Given the description of an element on the screen output the (x, y) to click on. 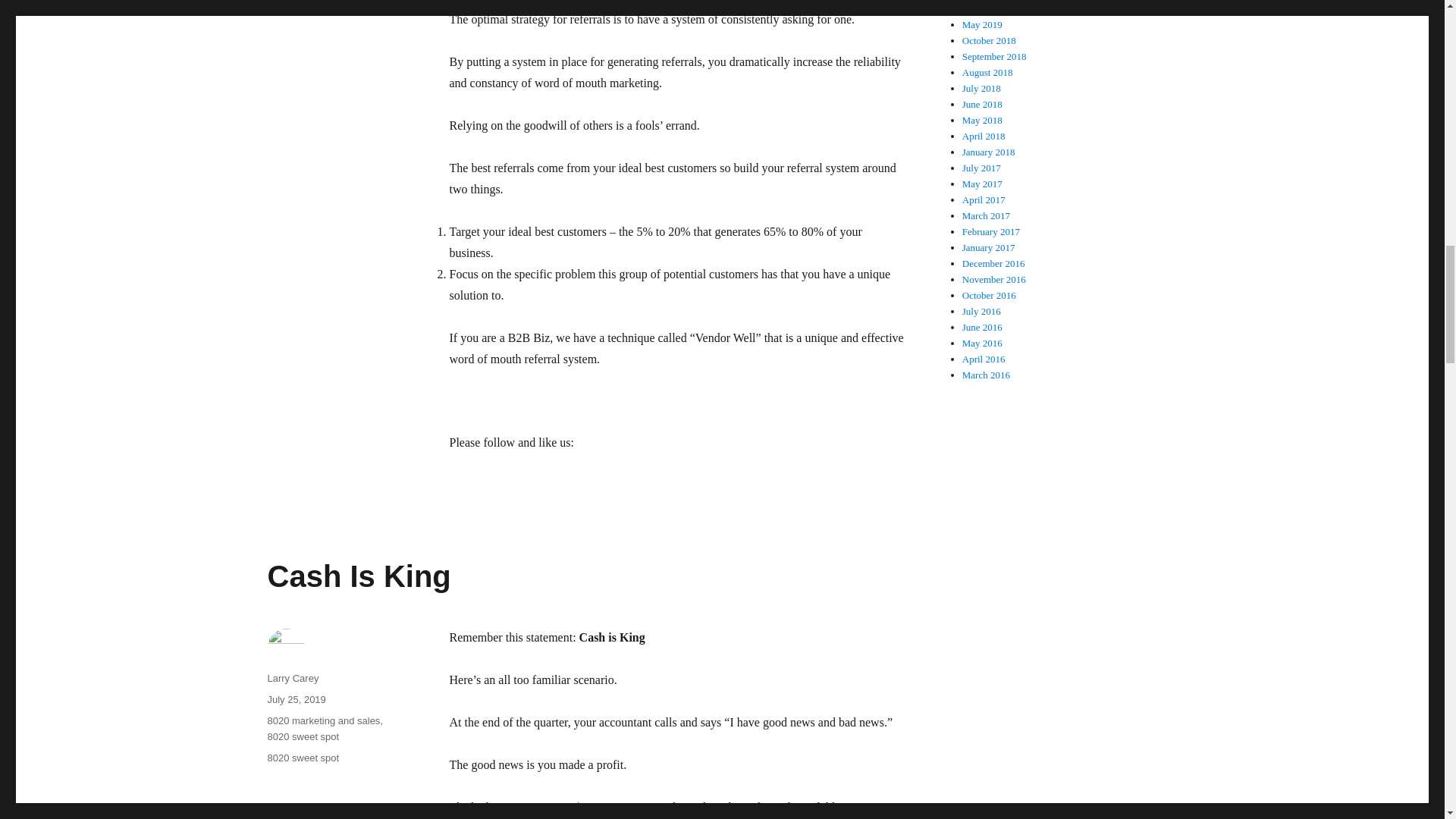
8020 sweet spot (302, 757)
Larry Carey (292, 677)
8020 sweet spot (302, 736)
Cash Is King (357, 575)
8020 marketing and sales (323, 720)
July 25, 2019 (295, 699)
